Given the description of an element on the screen output the (x, y) to click on. 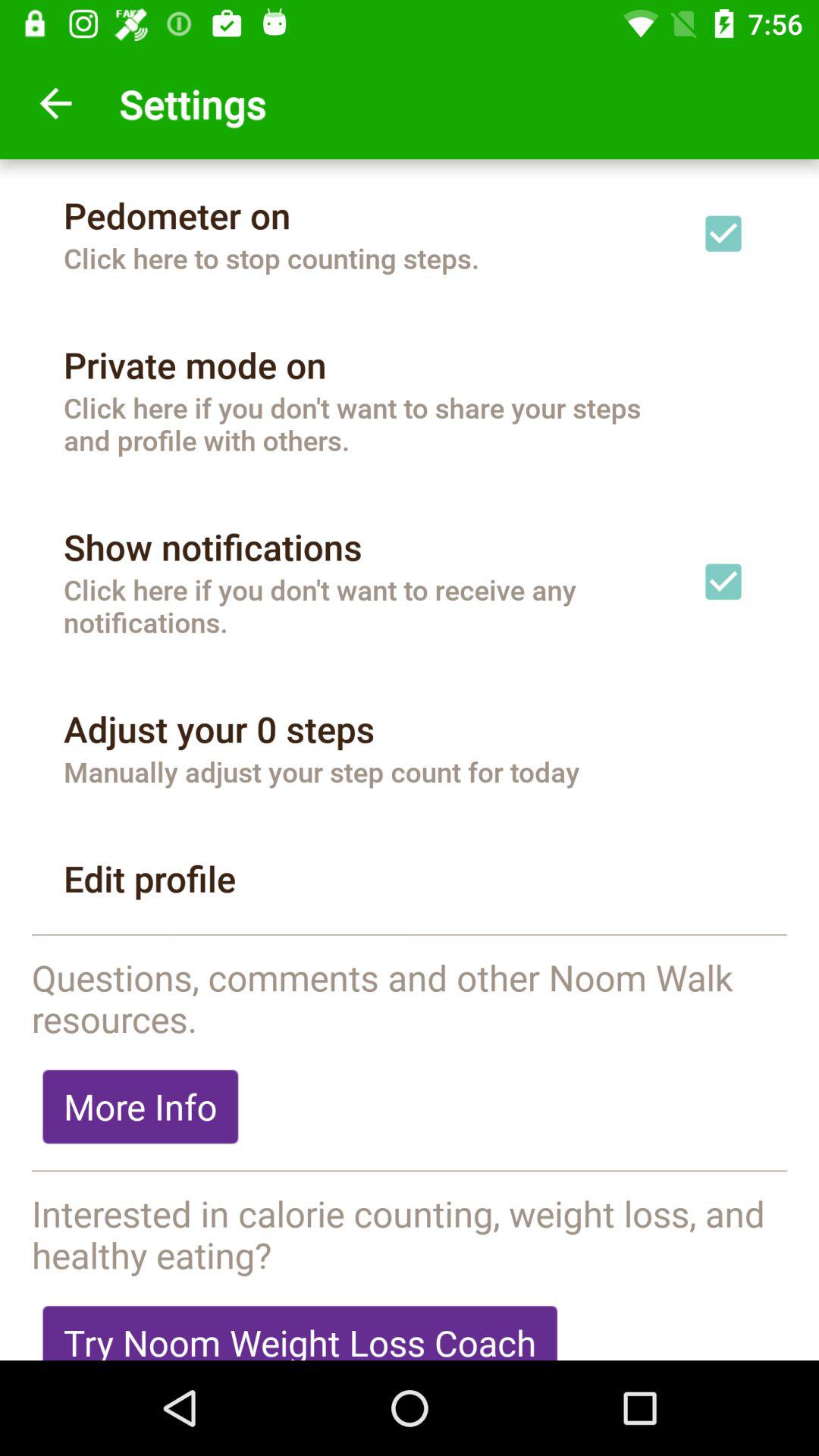
open item to the left of settings (55, 103)
